Given the description of an element on the screen output the (x, y) to click on. 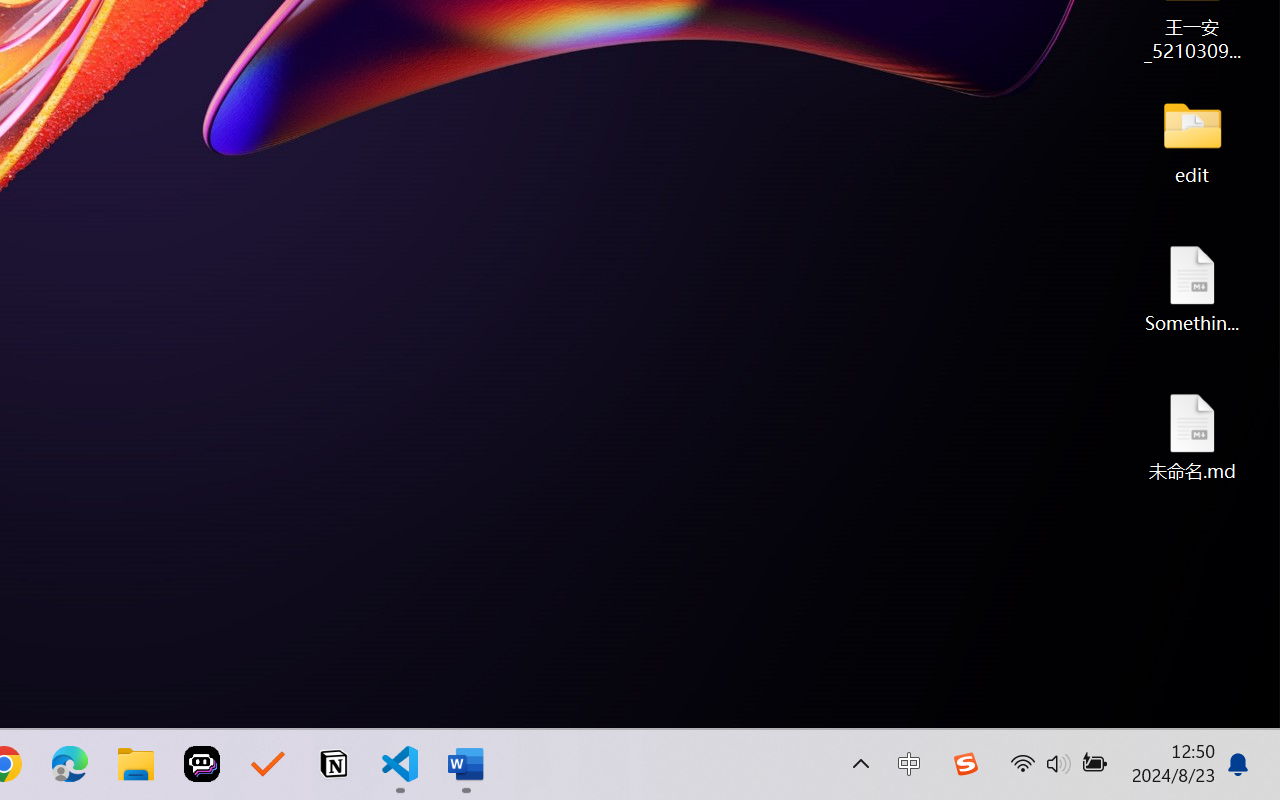
Something.md (1192, 288)
Microsoft Edge (69, 764)
edit (1192, 140)
